Given the description of an element on the screen output the (x, y) to click on. 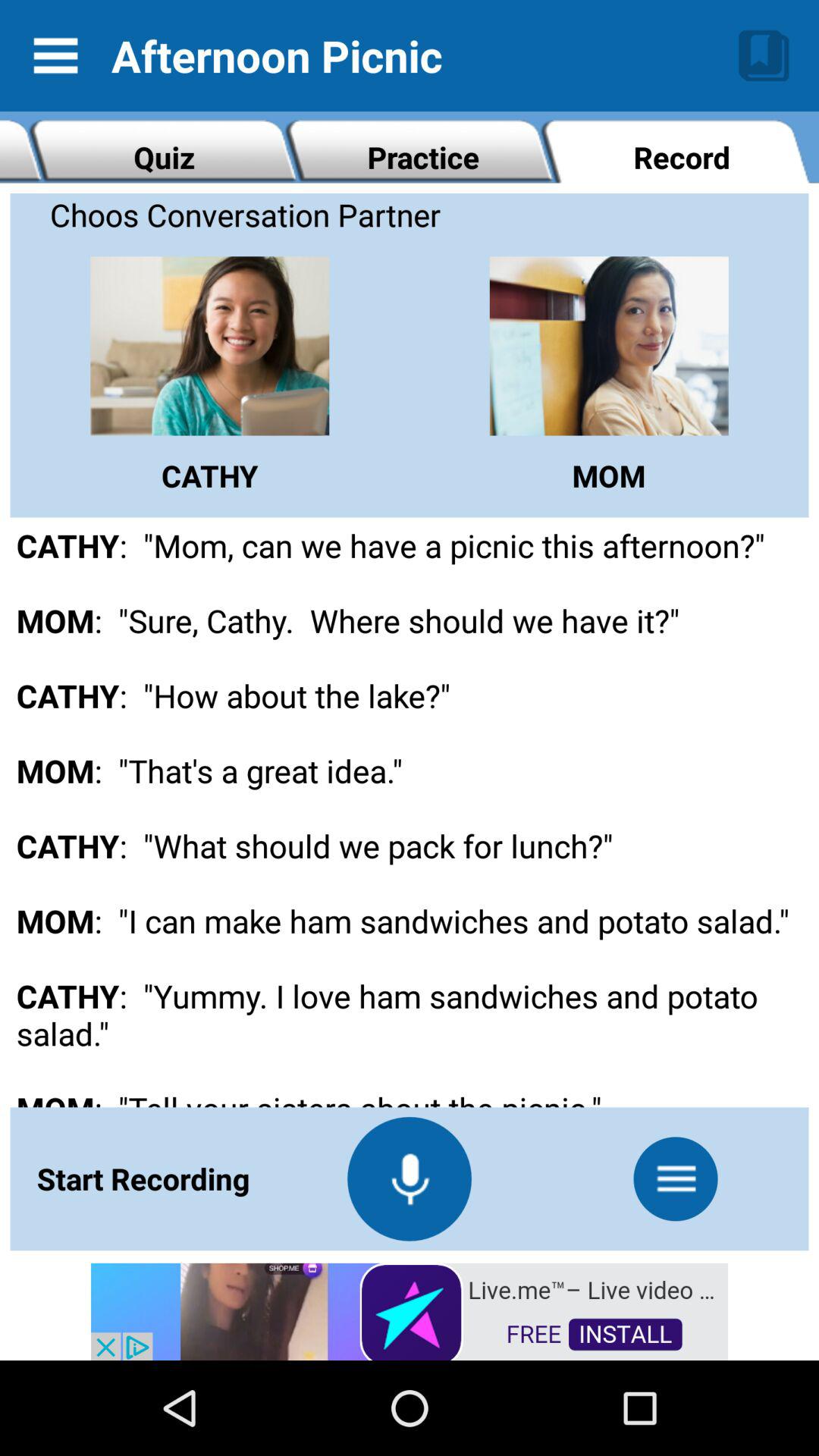
web advertisement (409, 1310)
